Given the description of an element on the screen output the (x, y) to click on. 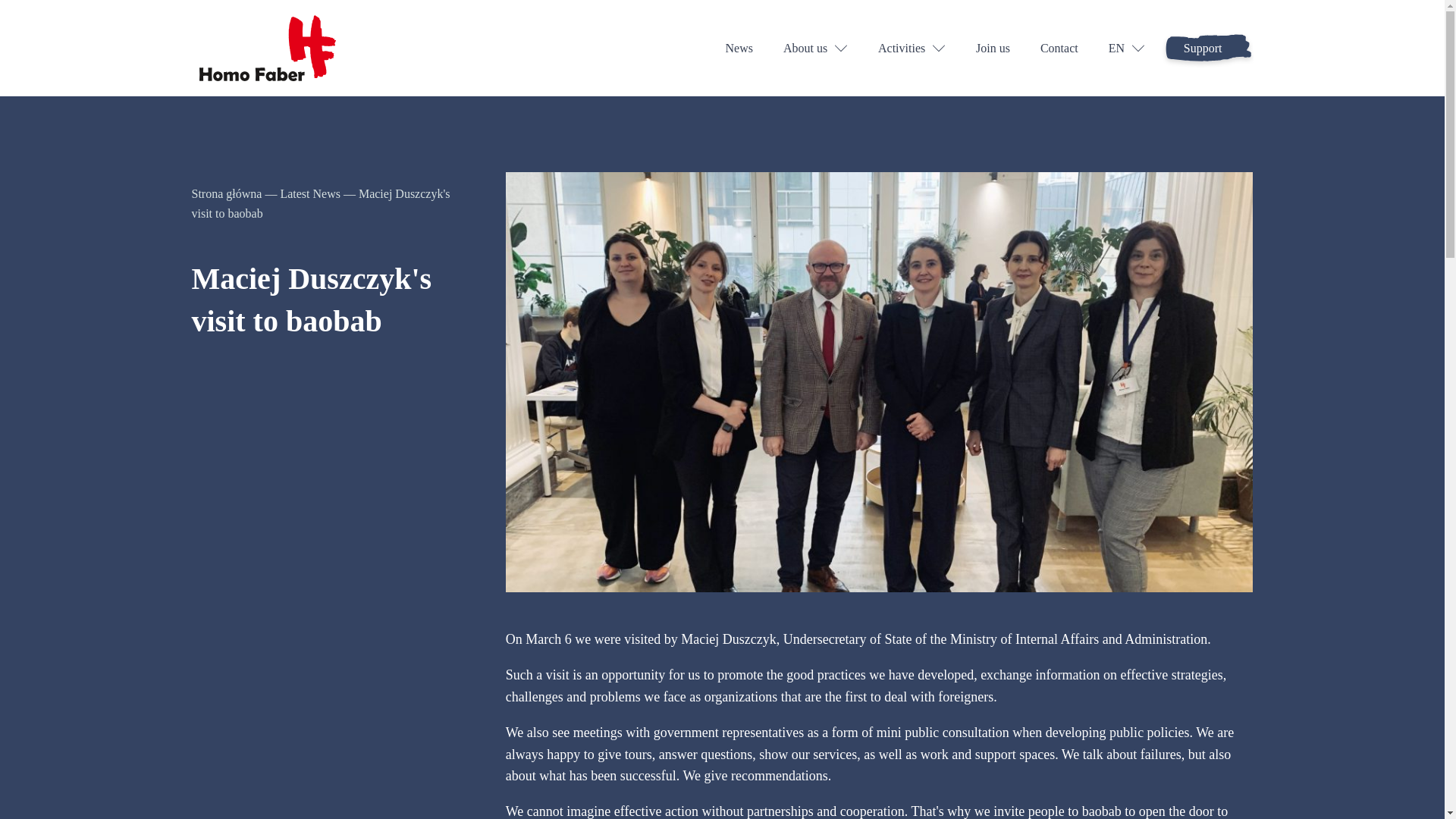
Join us (992, 48)
News (738, 48)
About us (815, 48)
EN (1126, 48)
Latest News (309, 193)
Contact (1059, 48)
Activities (910, 48)
Support (1203, 47)
